Given the description of an element on the screen output the (x, y) to click on. 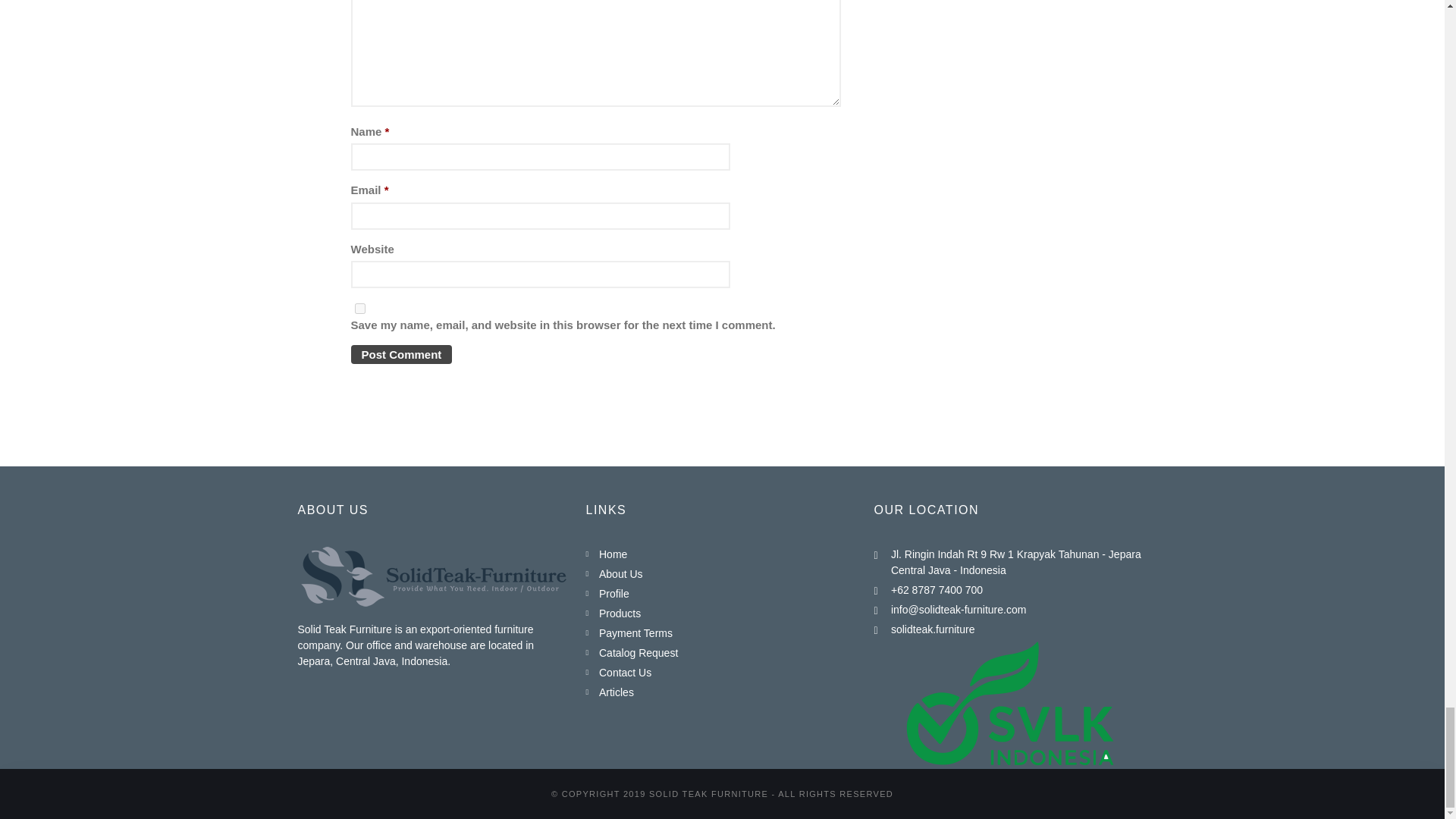
yes (360, 308)
Post Comment (400, 353)
